Given the description of an element on the screen output the (x, y) to click on. 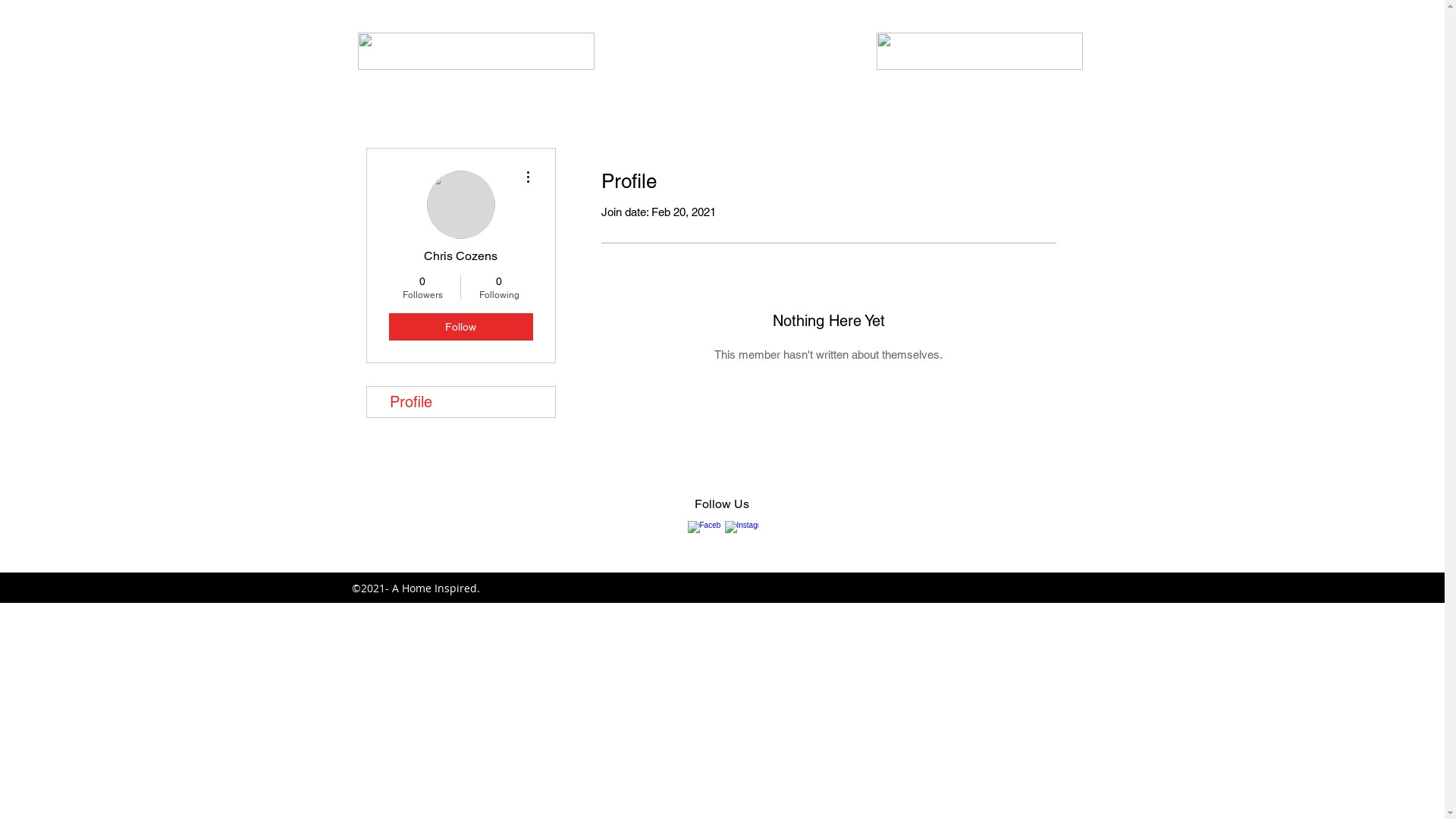
0
Following Element type: text (499, 287)
Profile Element type: text (461, 401)
0
Followers Element type: text (421, 287)
Follow Element type: text (460, 326)
_BMM_Horizontal_Color.jpg Element type: hover (475, 50)
ahi.jpg Element type: hover (979, 50)
